Given the description of an element on the screen output the (x, y) to click on. 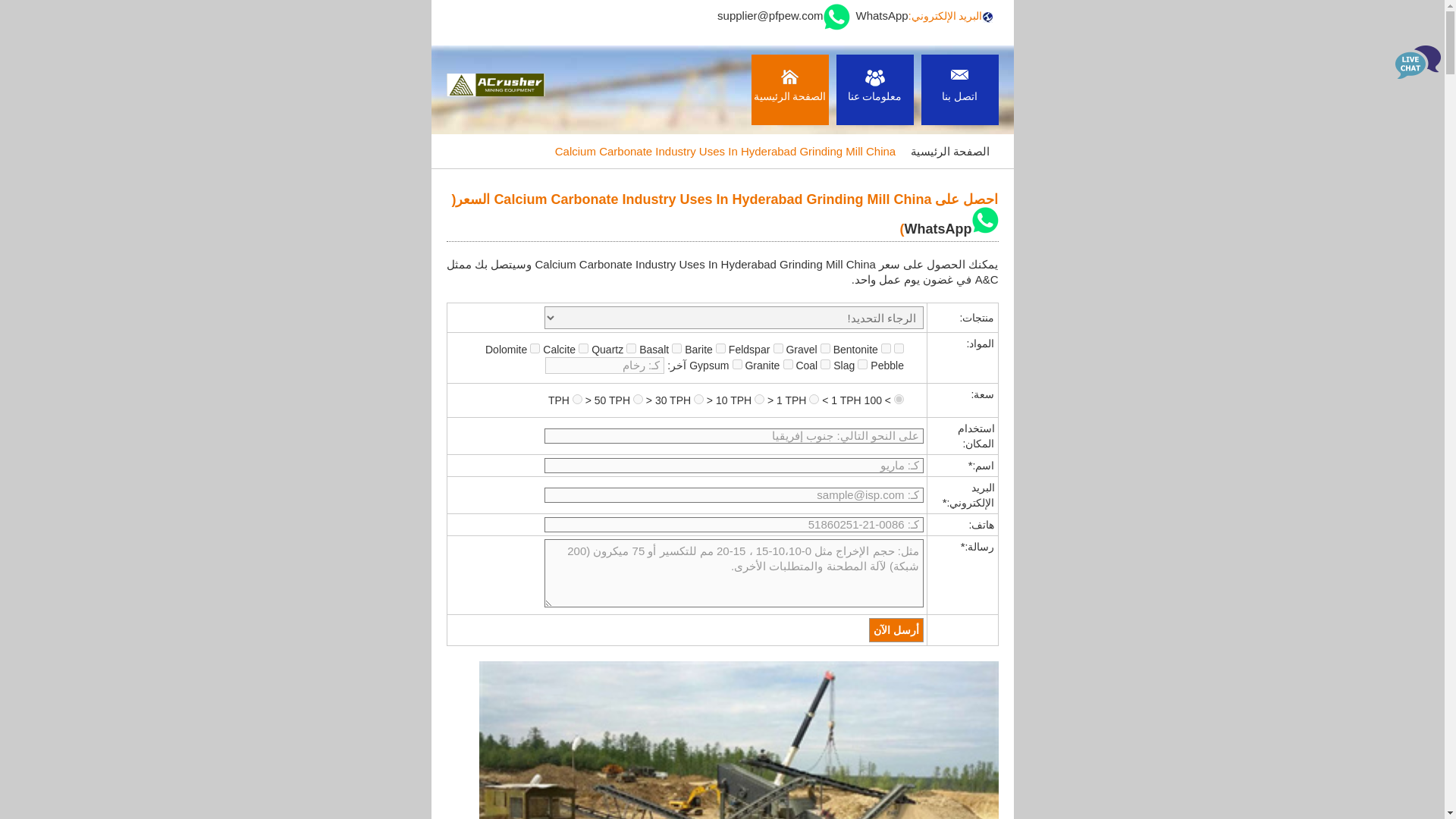
WhatsApp (950, 228)
Quartz (583, 347)
Bentonite (825, 347)
Slag (825, 364)
Granite (737, 364)
Coal (787, 364)
Barite (676, 347)
Pebble (862, 364)
Gravel (778, 347)
